Given the description of an element on the screen output the (x, y) to click on. 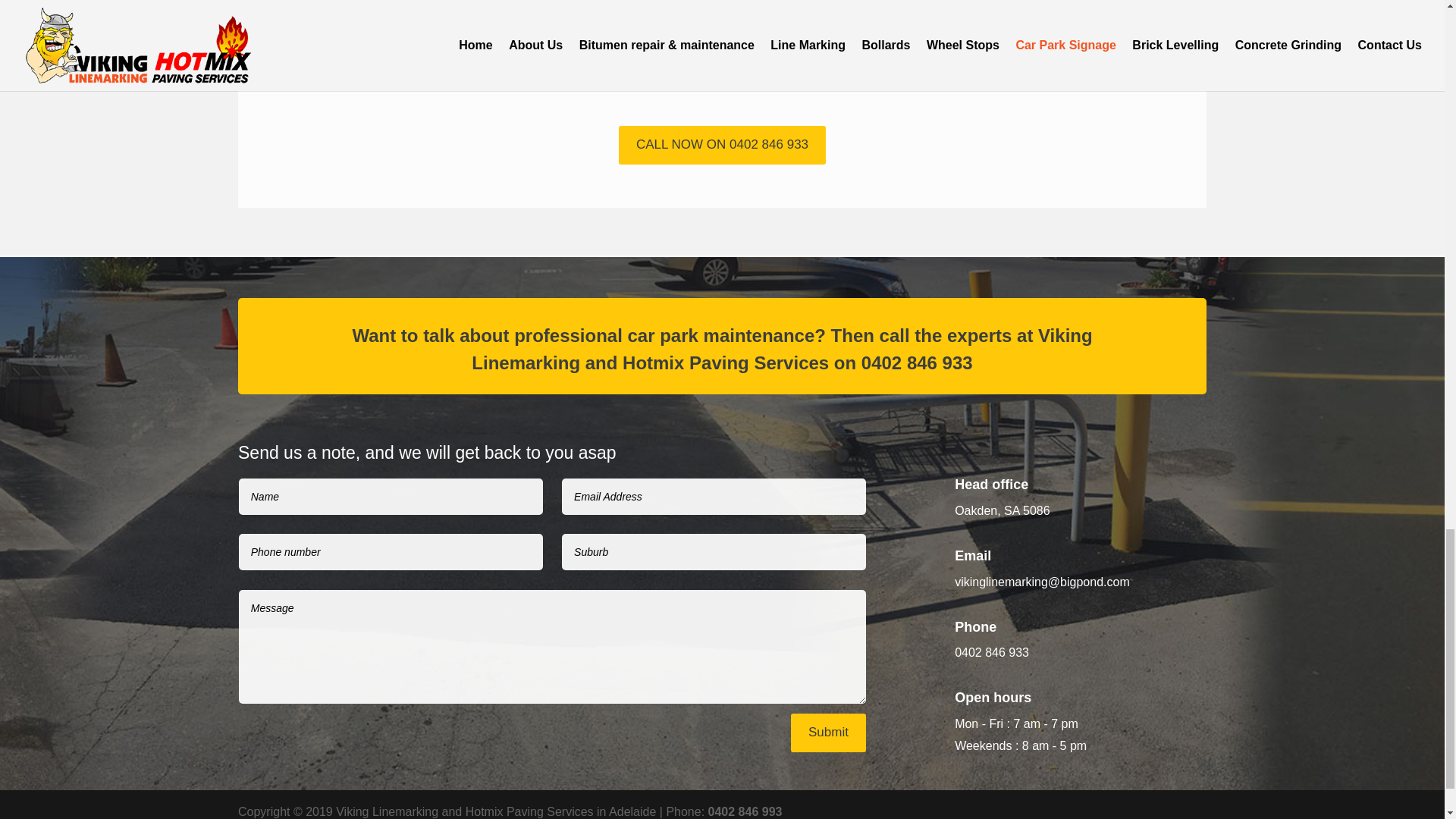
CALL NOW ON 0402 846 933 (721, 145)
Submit (828, 732)
0402 846 993 (745, 811)
Email (973, 555)
Phone (975, 626)
